Given the description of an element on the screen output the (x, y) to click on. 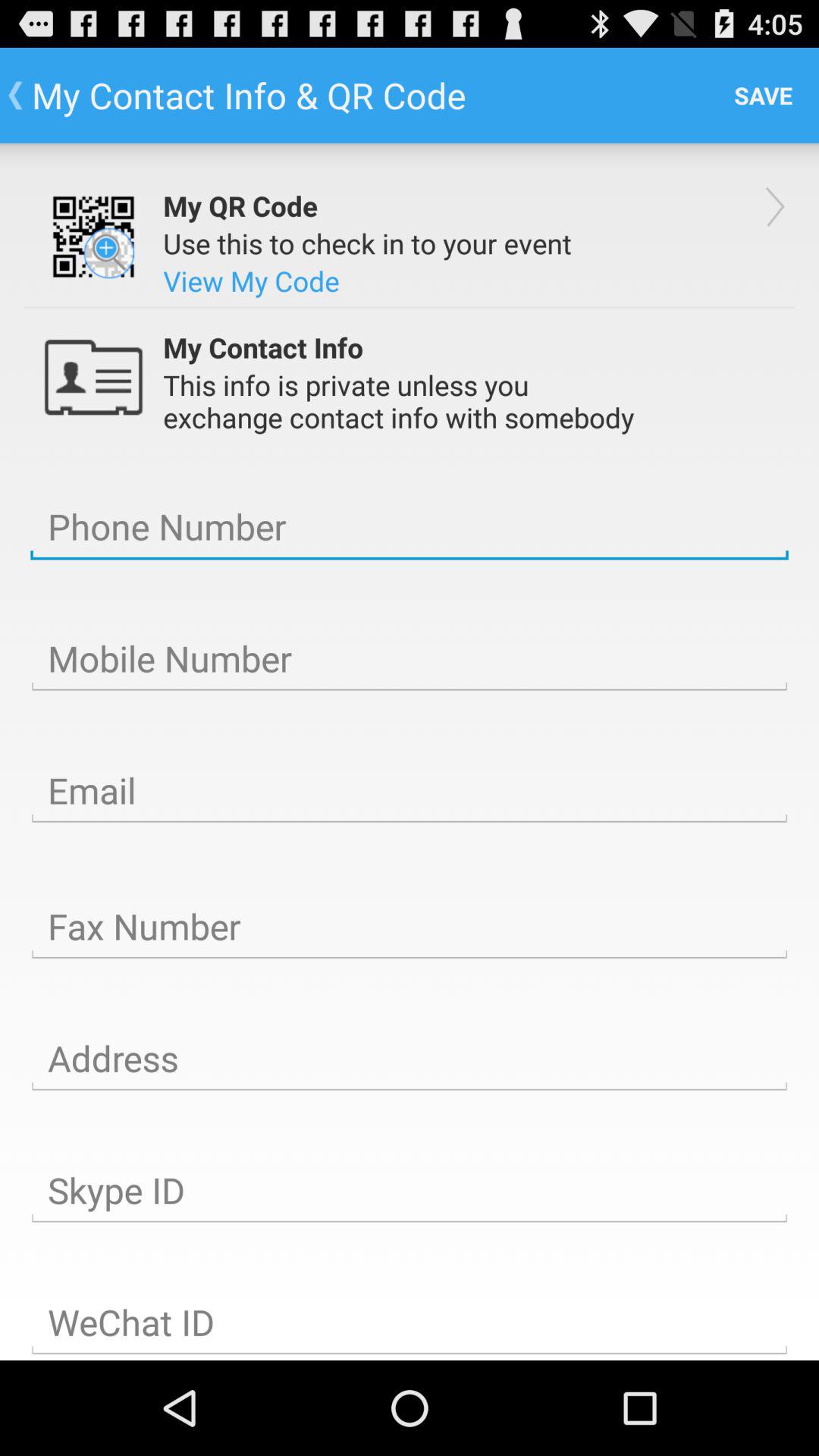
enter phone number (409, 526)
